Given the description of an element on the screen output the (x, y) to click on. 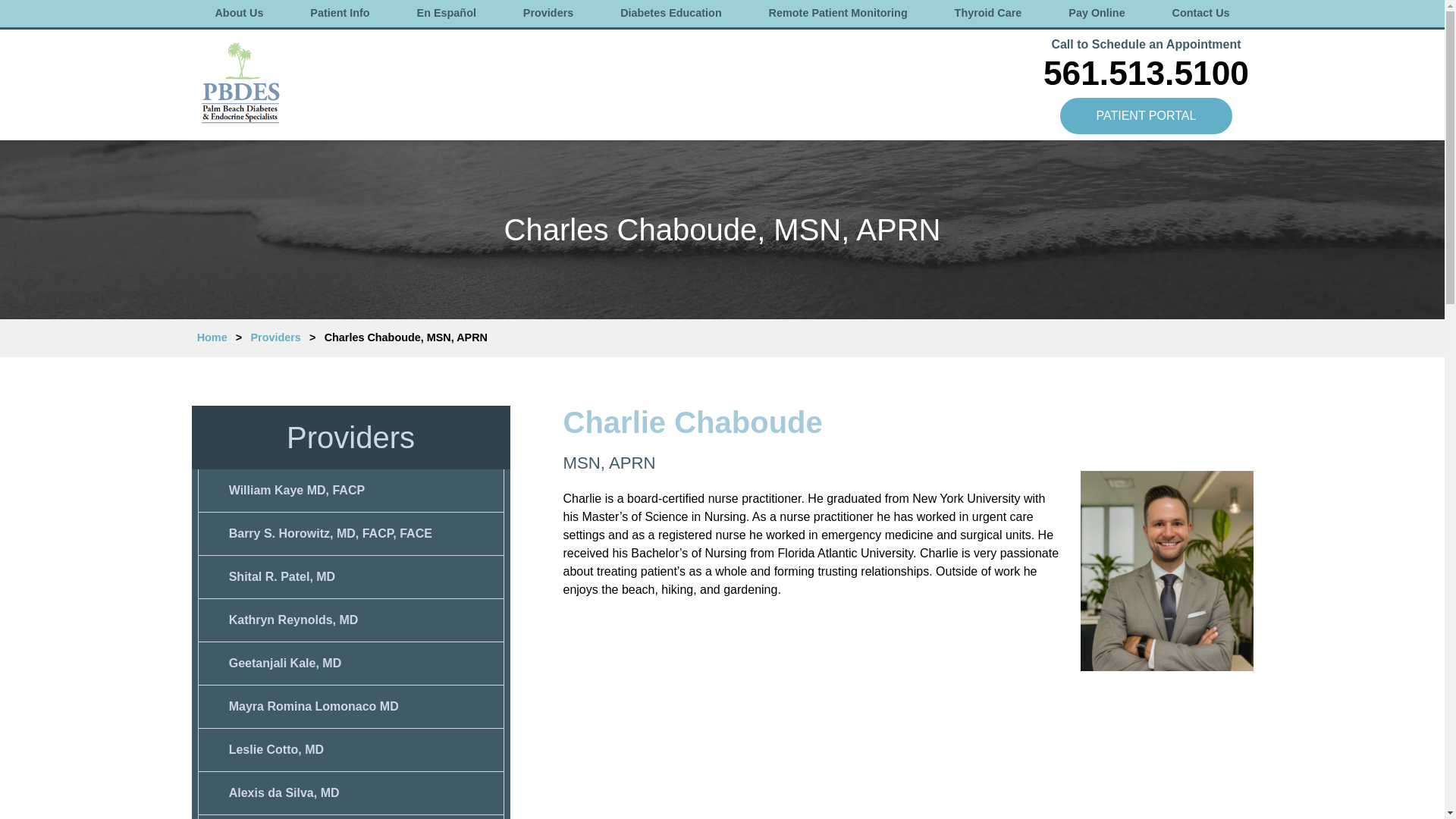
Providers (547, 13)
Patient Info (339, 13)
Palm Beach Diabetes and Endocrine Specialists PA (238, 83)
About Us (238, 13)
